Given the description of an element on the screen output the (x, y) to click on. 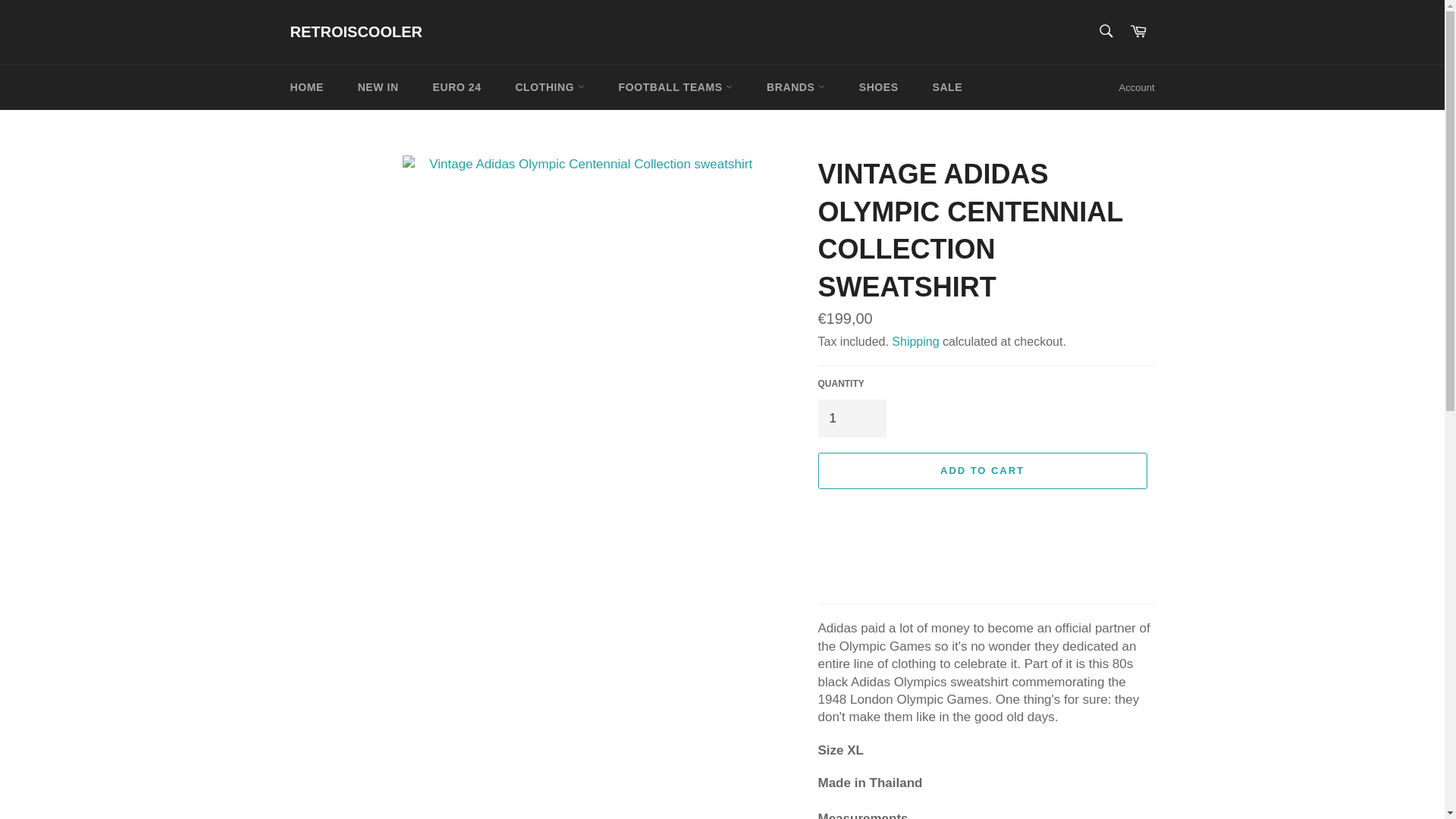
1 (850, 417)
